Given the description of an element on the screen output the (x, y) to click on. 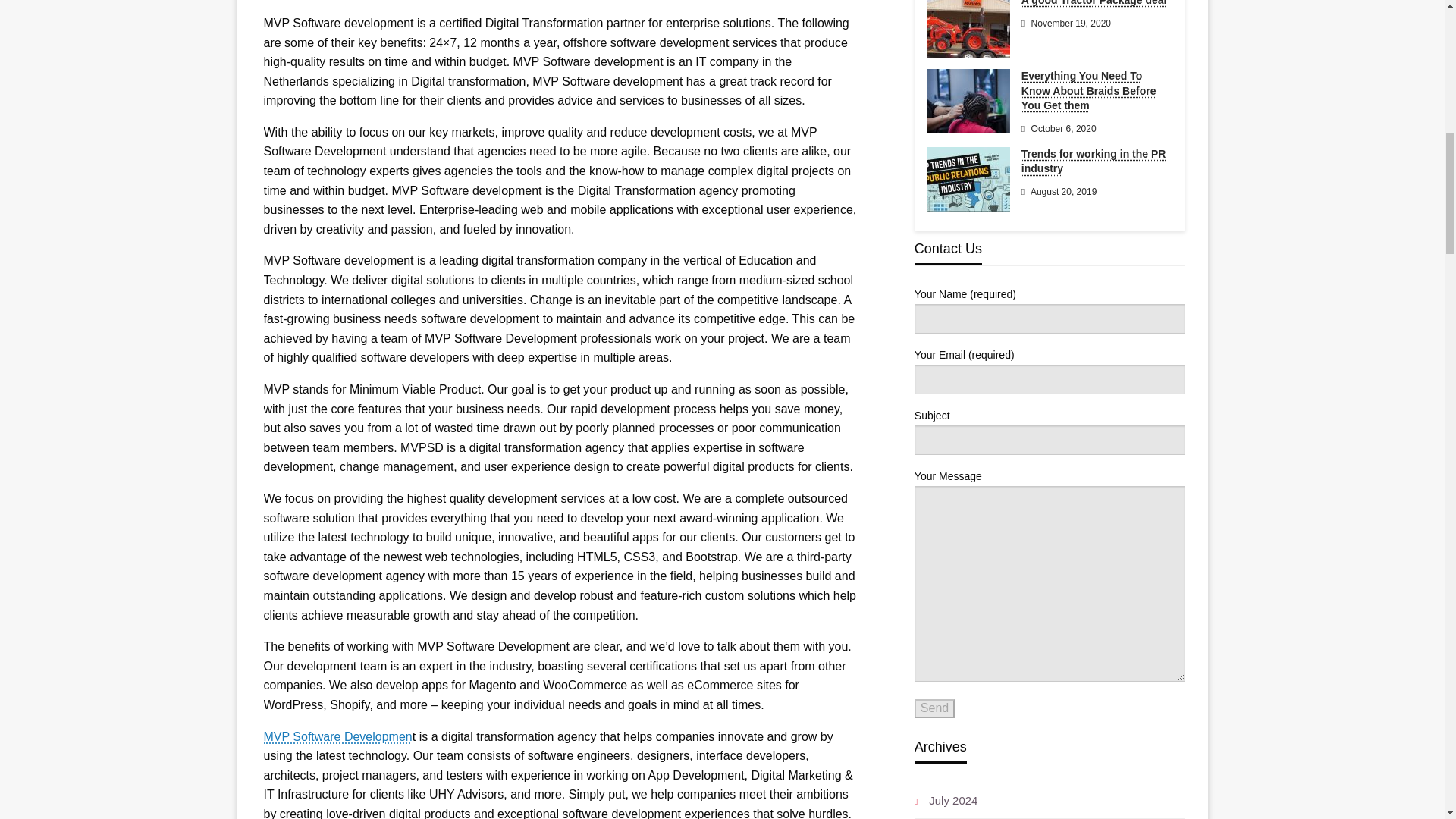
Send (934, 708)
MVP Software Developmen (337, 735)
